Given the description of an element on the screen output the (x, y) to click on. 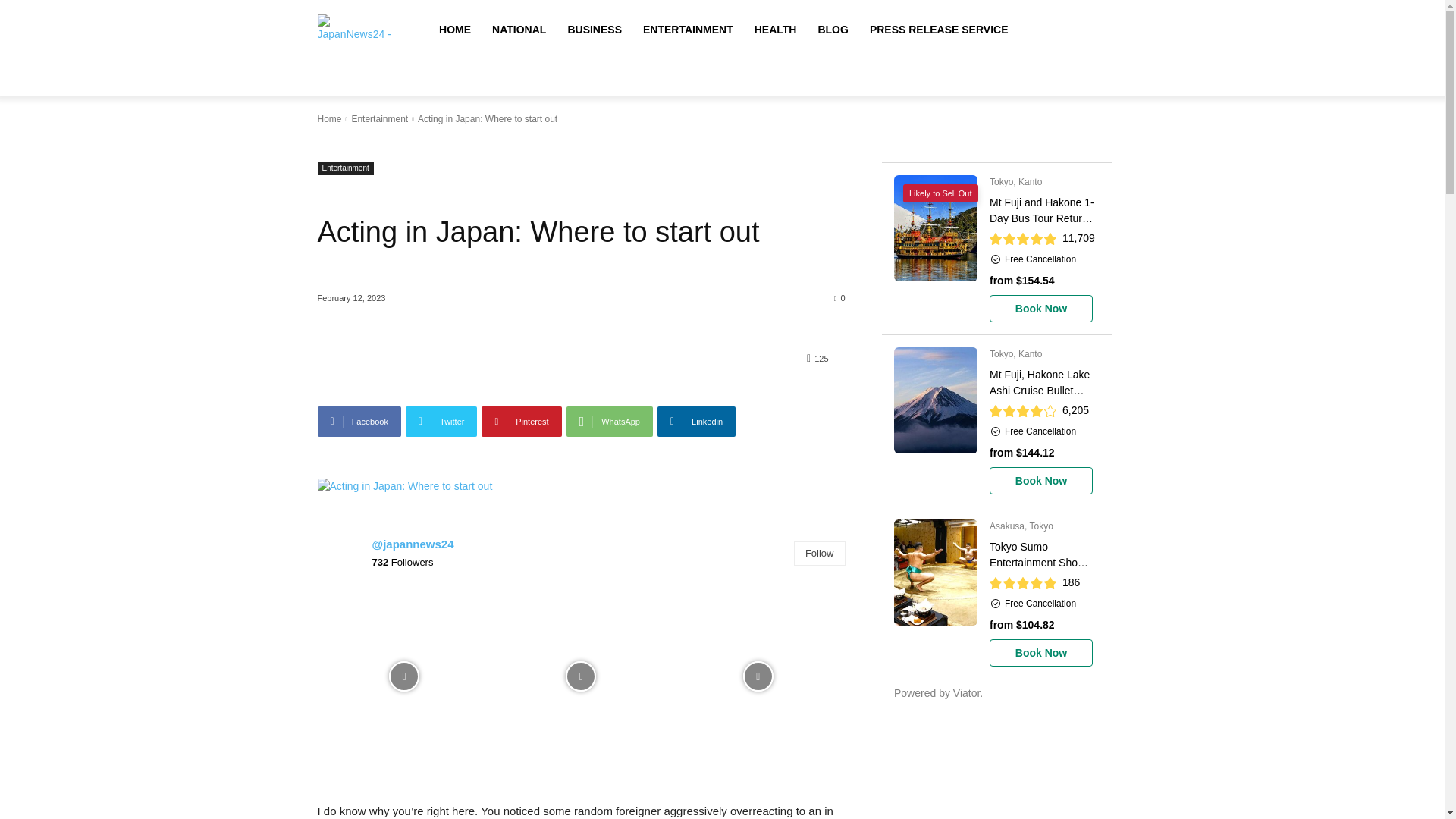
Facebook (358, 421)
View all posts in Entertainment (378, 118)
Facebook (358, 421)
Pinterest (520, 421)
Entertainment (378, 118)
BUSINESS (593, 29)
Twitter (441, 421)
JapanNews24 - News On Japan in English (355, 29)
Linkedin (696, 421)
HOME (454, 29)
0 (839, 297)
PRESS RELEASE SERVICE (939, 29)
WhatsApp (609, 421)
Entertainment (344, 168)
HEALTH (776, 29)
